Given the description of an element on the screen output the (x, y) to click on. 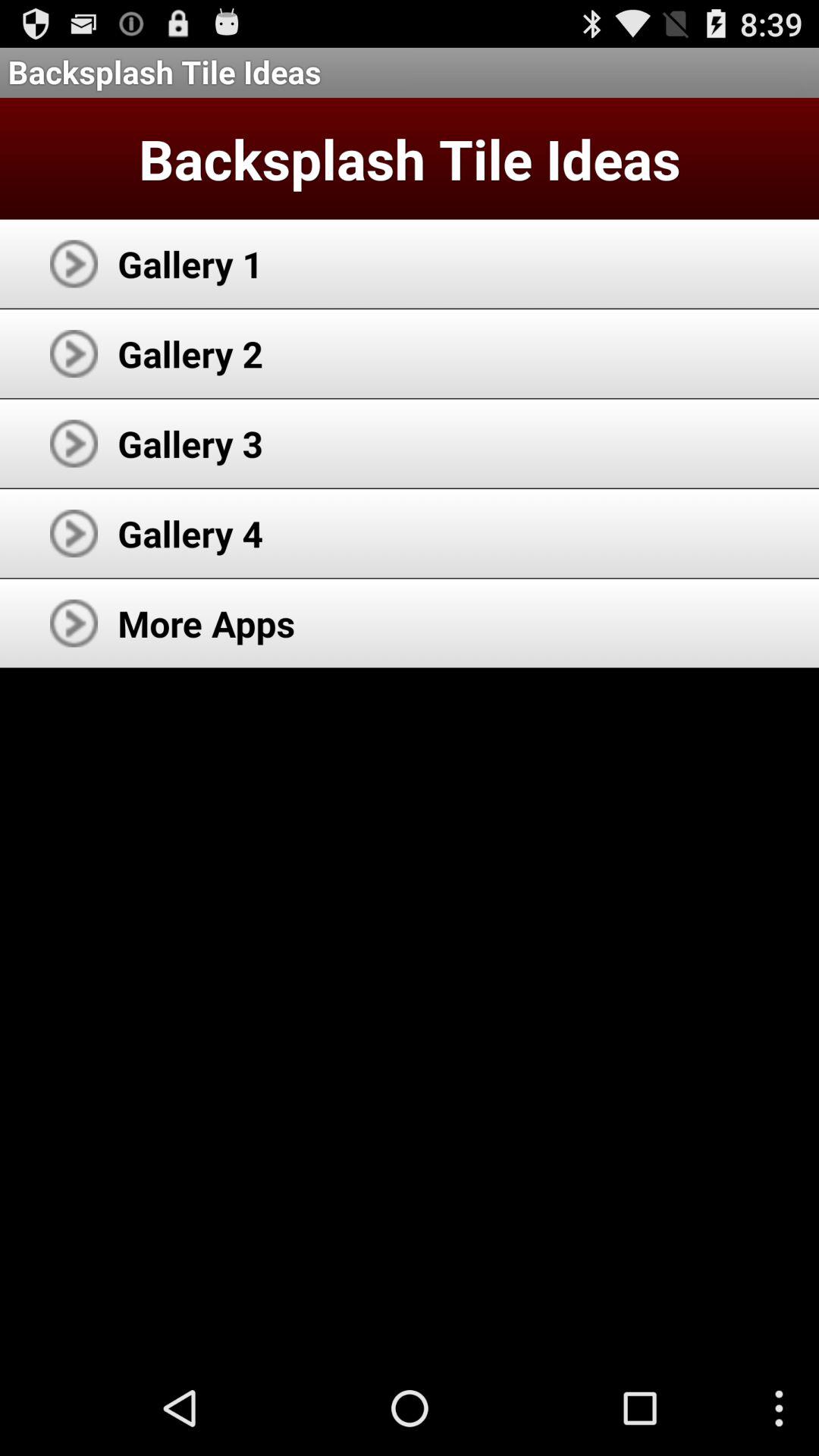
open item below the gallery 4 item (206, 622)
